Given the description of an element on the screen output the (x, y) to click on. 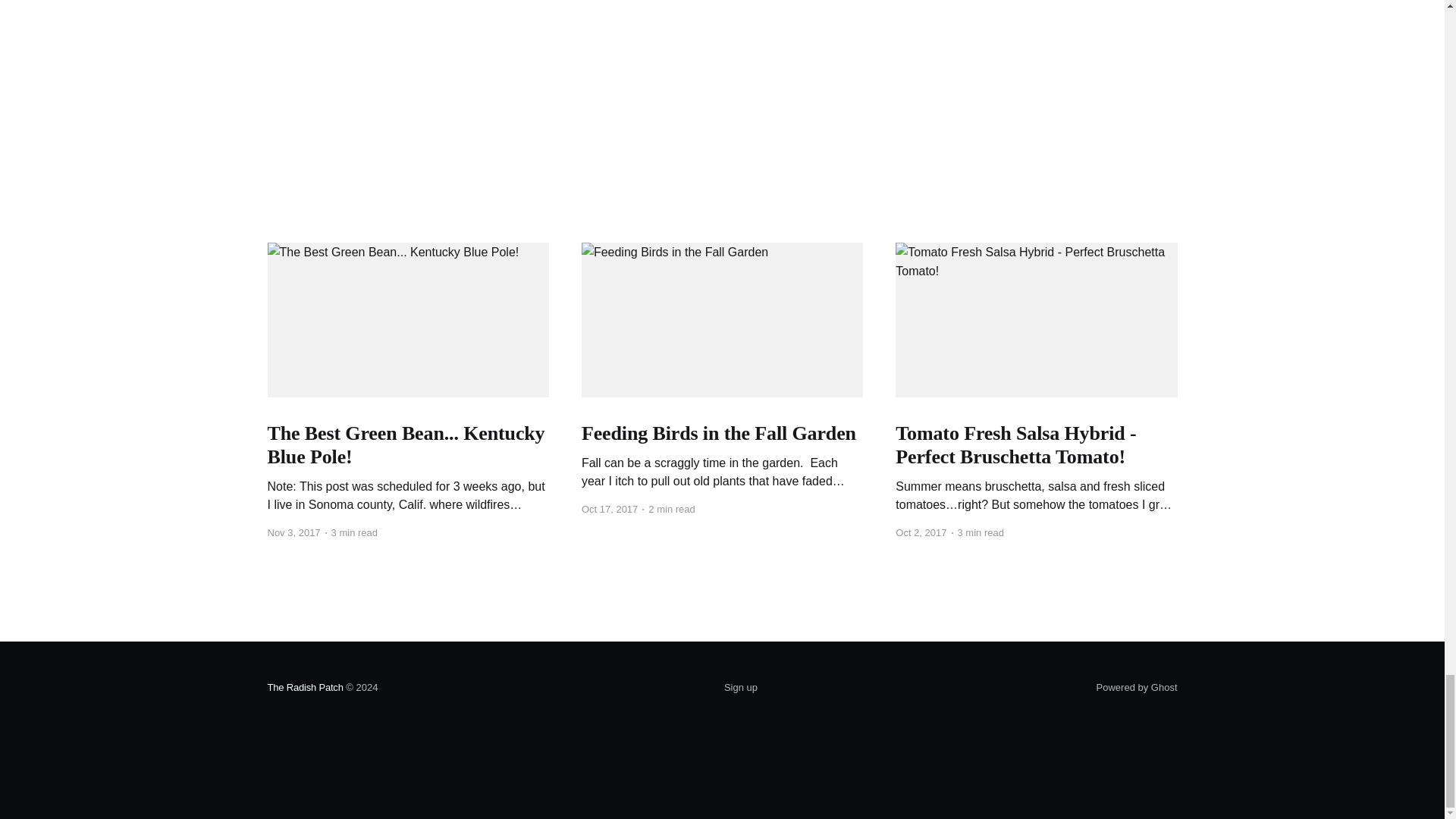
Sign up (740, 687)
Powered by Ghost (1136, 686)
The Radish Patch (304, 686)
